Given the description of an element on the screen output the (x, y) to click on. 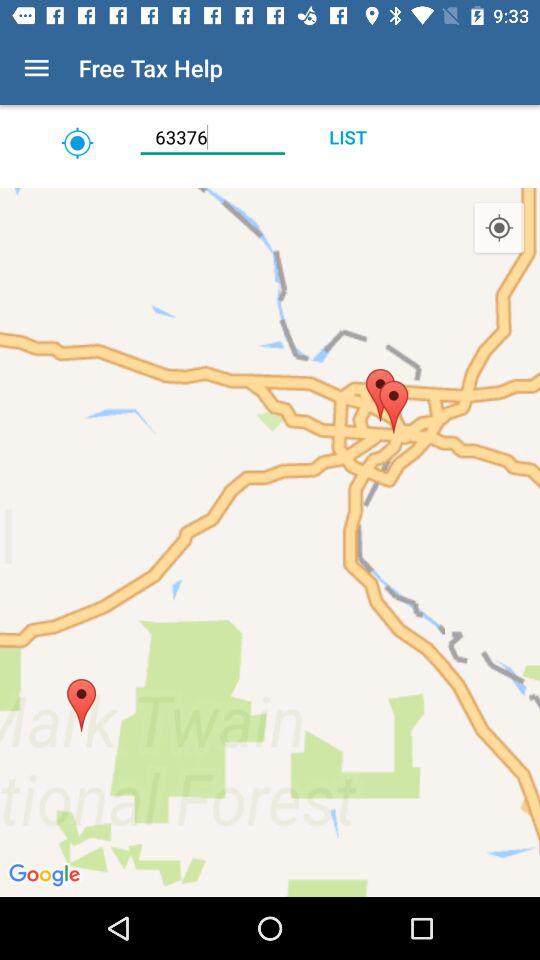
click the 63376 icon (212, 137)
